Given the description of an element on the screen output the (x, y) to click on. 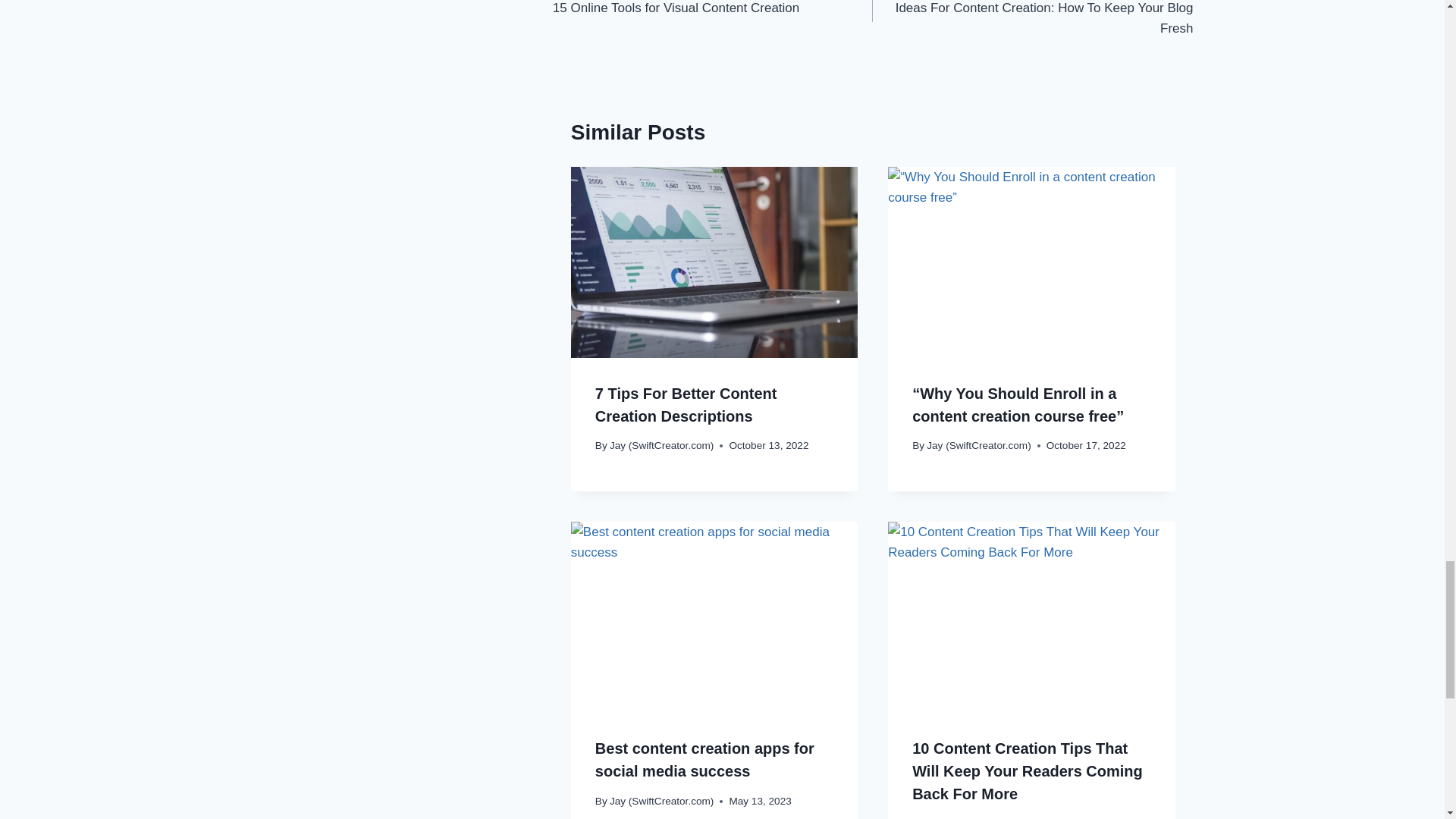
Best content creation apps for social media success (704, 759)
7 Tips For Better Content Creation Descriptions (1032, 19)
